Given the description of an element on the screen output the (x, y) to click on. 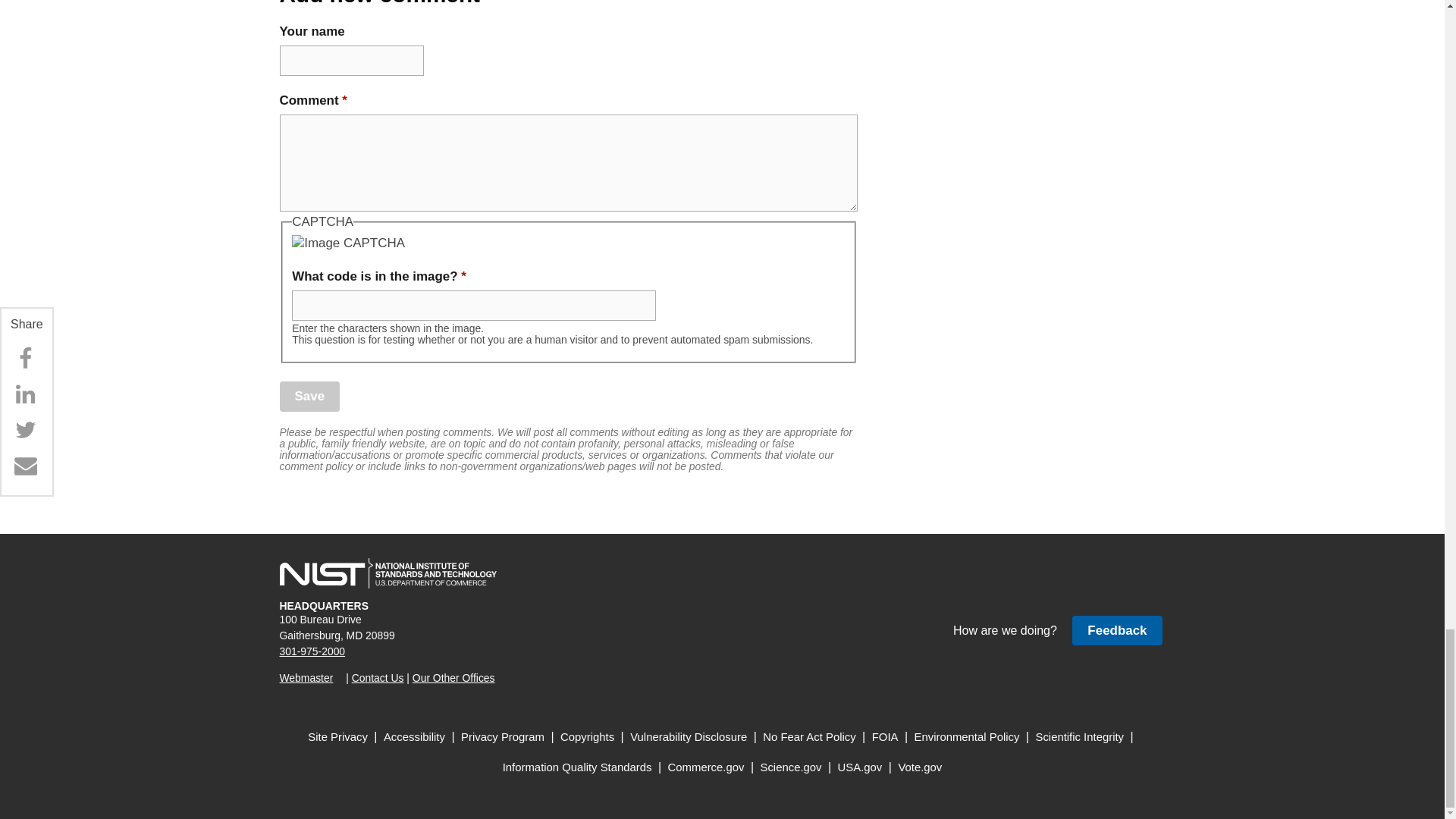
Provide feedback (1116, 630)
Image CAPTCHA (348, 243)
National Institute of Standards and Technology (387, 572)
Save (309, 396)
